Given the description of an element on the screen output the (x, y) to click on. 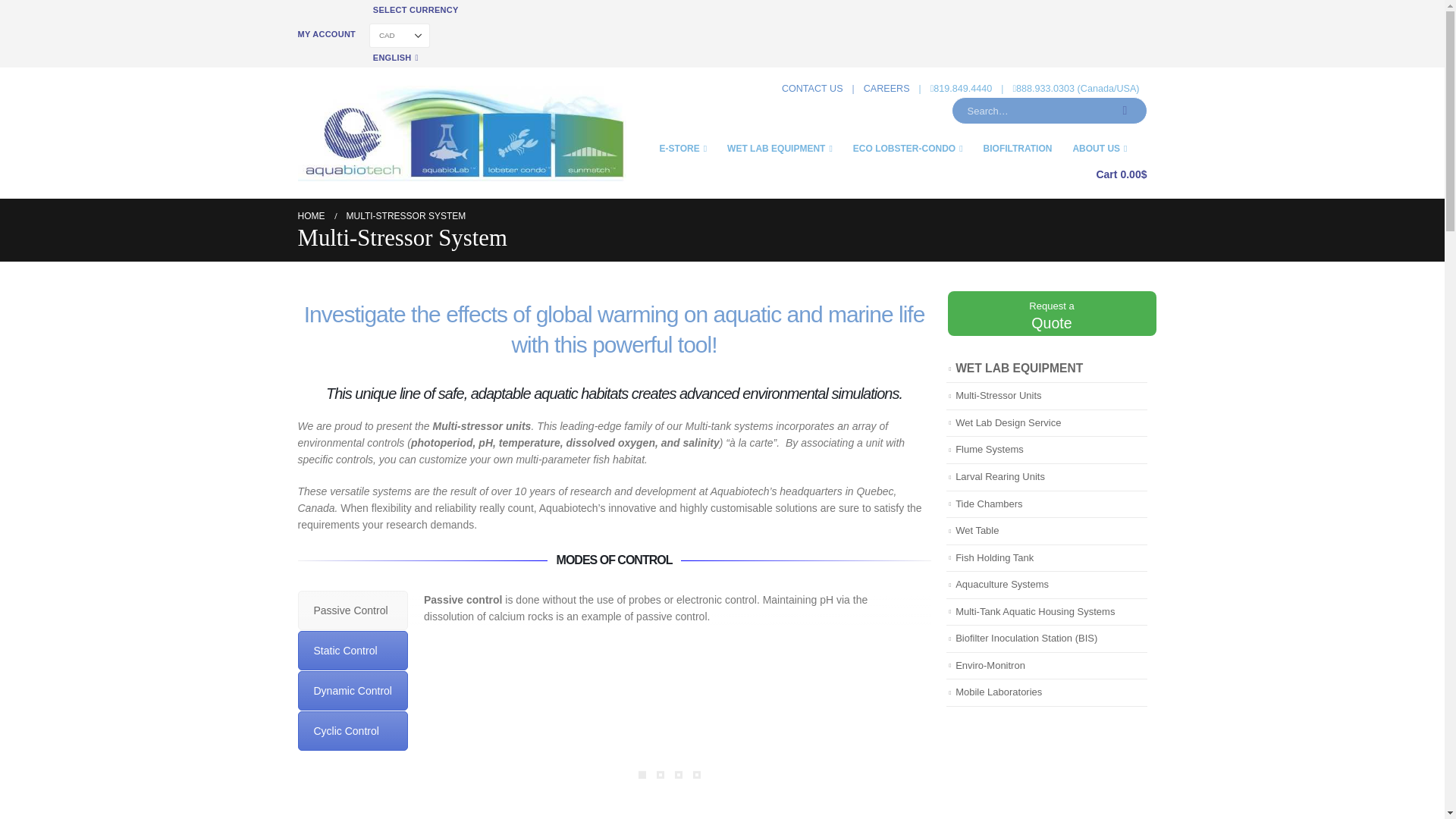
WET LAB EQUIPMENT (788, 147)
CAREERS (886, 88)
Go to Home Page (310, 216)
English (395, 57)
SELECT CURRENCY (416, 9)
E-STORE (692, 147)
Search (1125, 110)
MY ACCOUNT (328, 34)
CONTACT US (812, 88)
ENGLISH (395, 57)
